Given the description of an element on the screen output the (x, y) to click on. 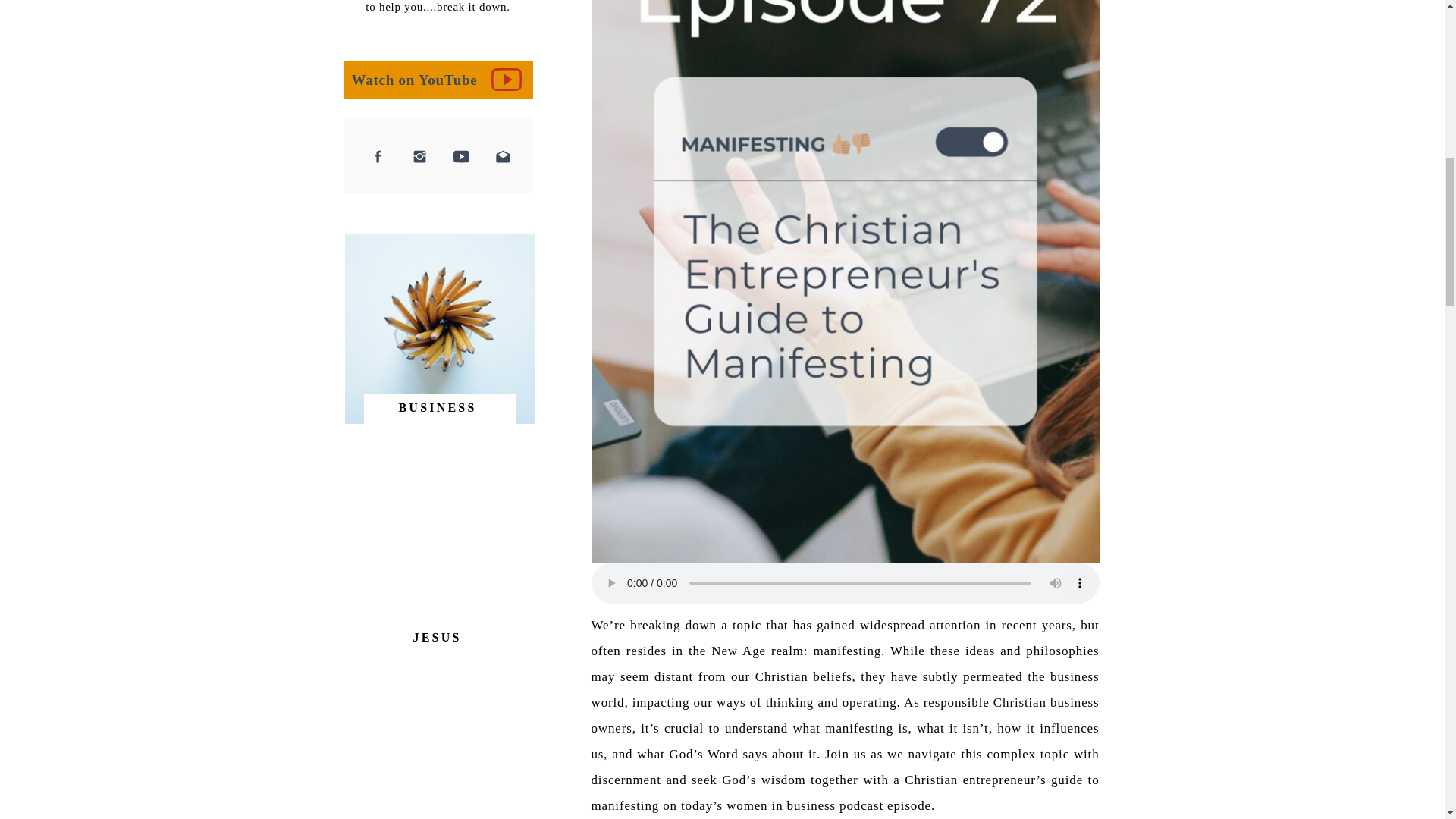
BUSINESS (441, 408)
Watch on YouTube (423, 84)
JESUS (440, 636)
